Given the description of an element on the screen output the (x, y) to click on. 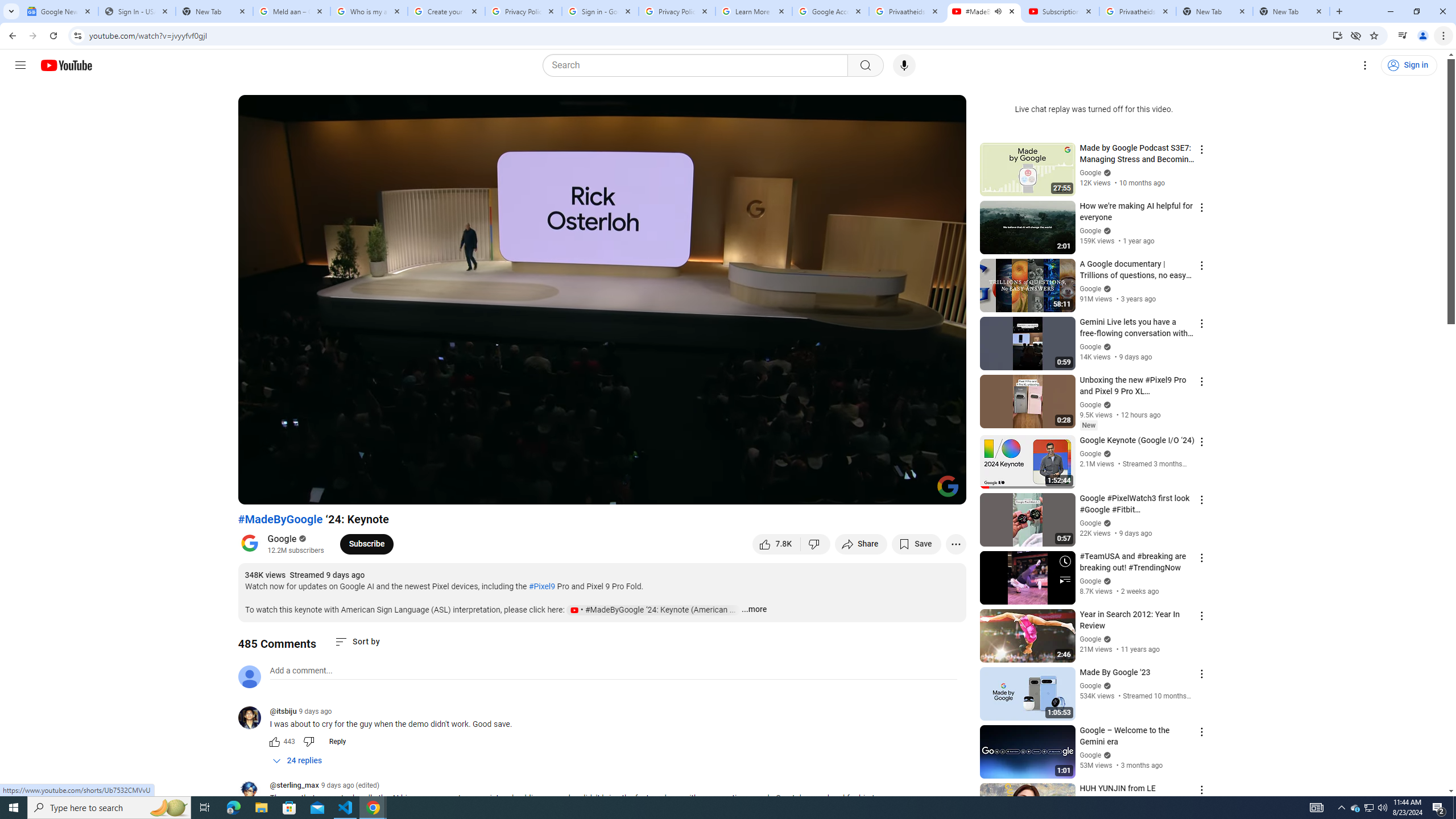
Share (861, 543)
Mute (m) (312, 490)
Channel watermark (947, 486)
